Given the description of an element on the screen output the (x, y) to click on. 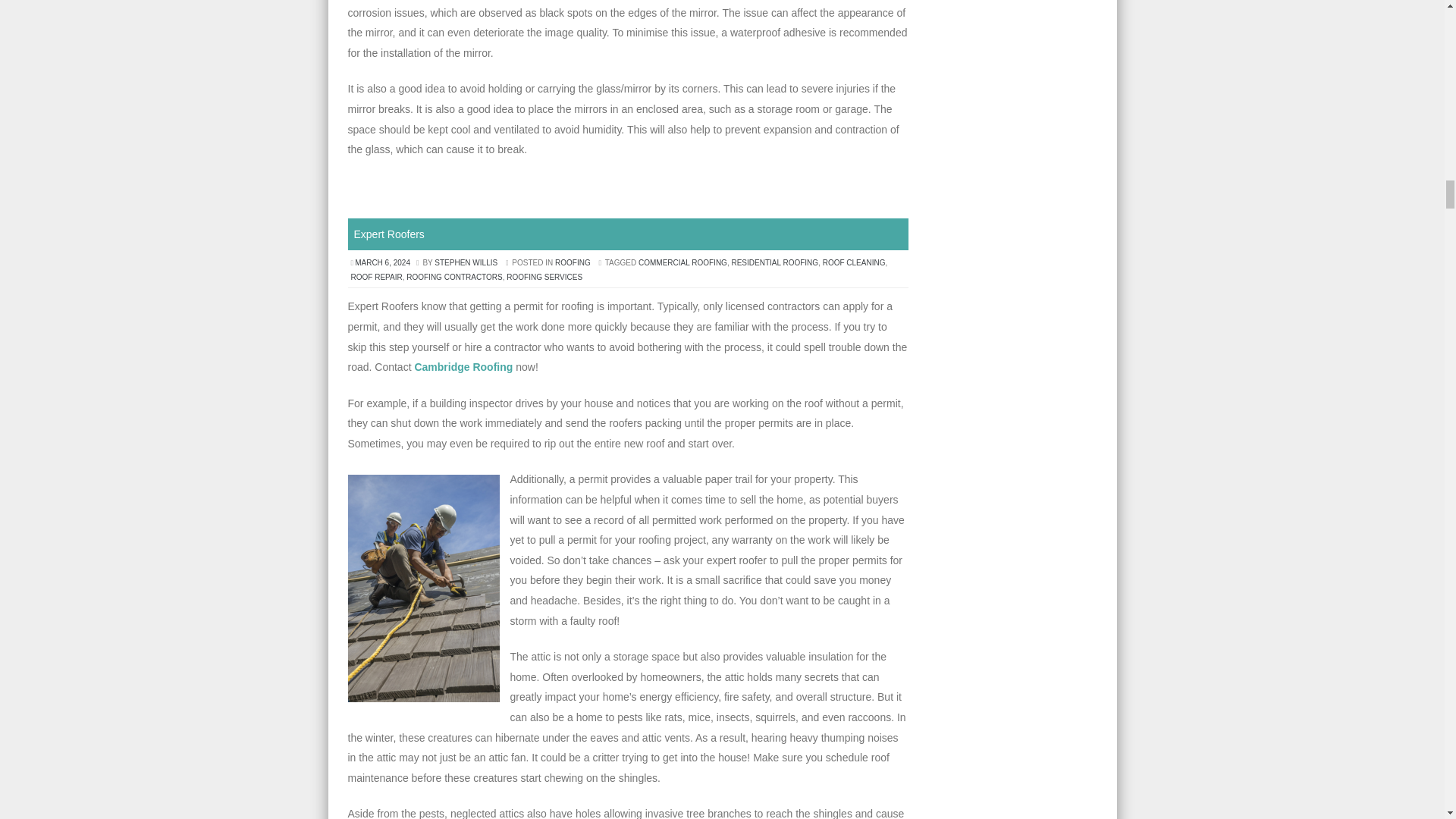
View all posts by Stephen Willis (465, 262)
Expert Roofers (388, 234)
RESIDENTIAL ROOFING (774, 262)
ROOF REPAIR (375, 276)
Permalink to Expert Roofers (388, 234)
ROOFING SERVICES (544, 276)
ROOF CLEANING (853, 262)
STEPHEN WILLIS (465, 262)
7:57 am (382, 262)
COMMERCIAL ROOFING (682, 262)
Cambridge Roofing (462, 367)
ROOFING (572, 262)
ROOFING CONTRACTORS (454, 276)
MARCH 6, 2024 (382, 262)
